Given the description of an element on the screen output the (x, y) to click on. 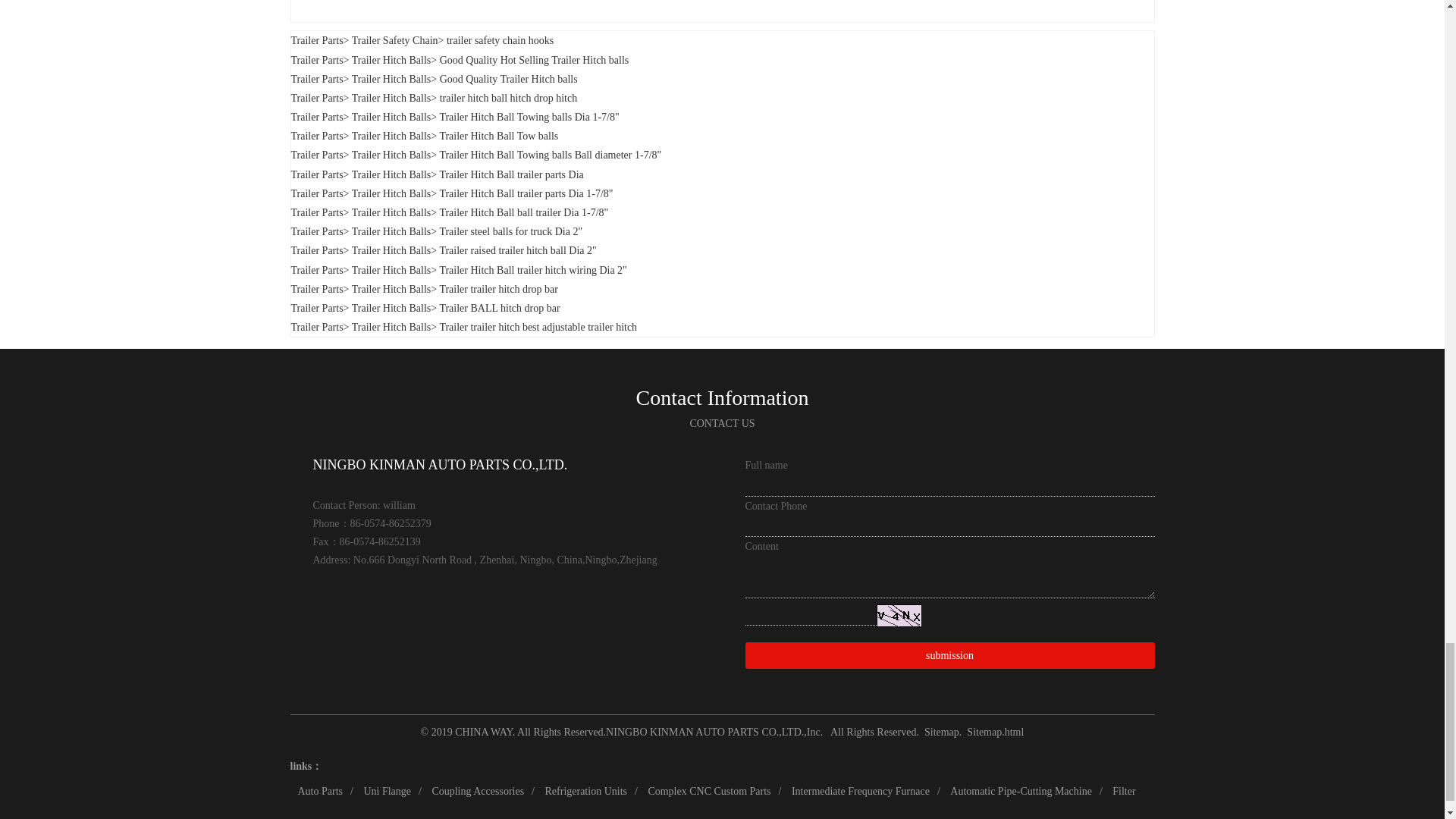
submission (949, 655)
